Given the description of an element on the screen output the (x, y) to click on. 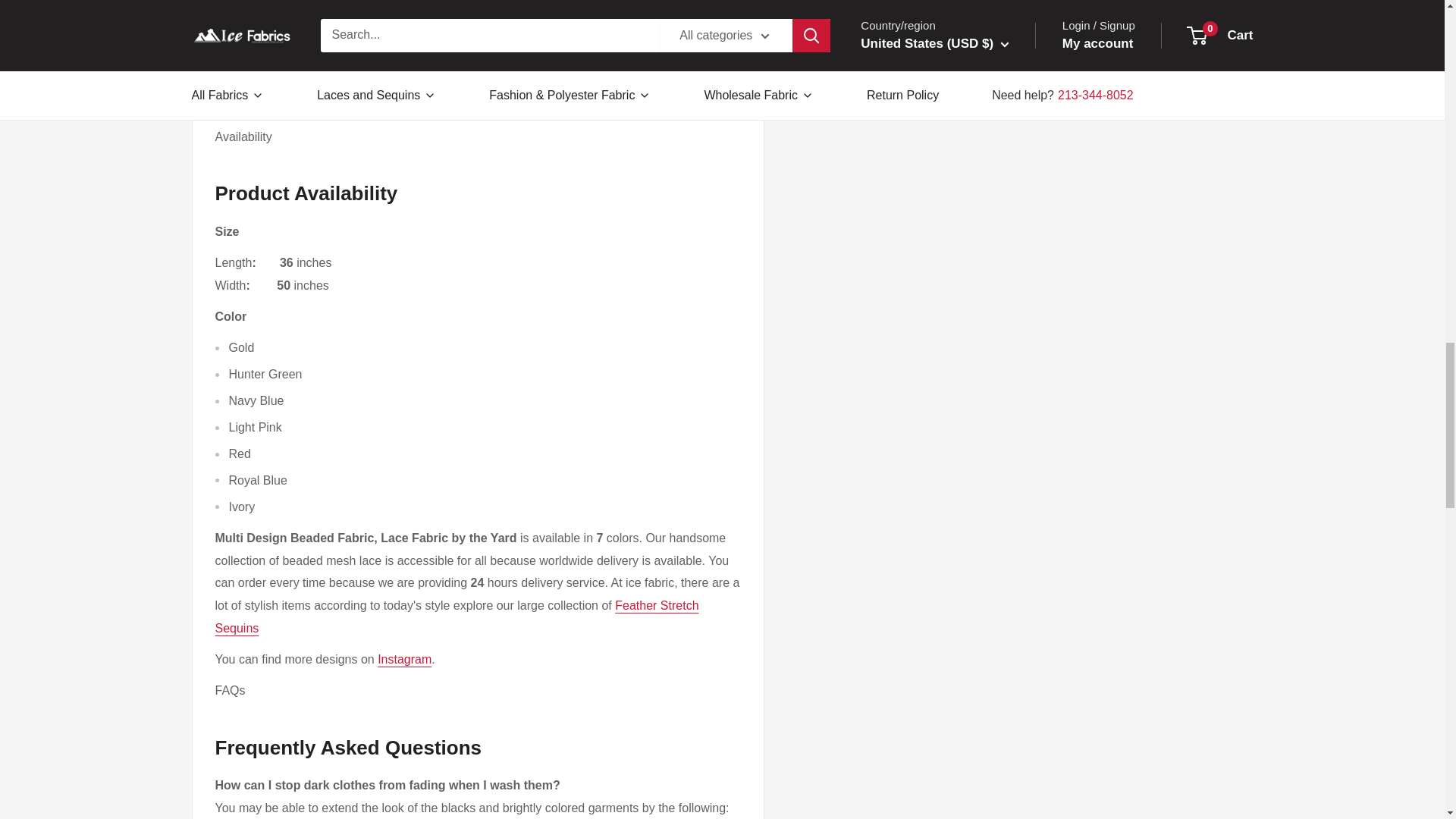
Instagram - IceFabrics (403, 658)
Feather Stretch Sequins - IceFabrics (456, 616)
